Given the description of an element on the screen output the (x, y) to click on. 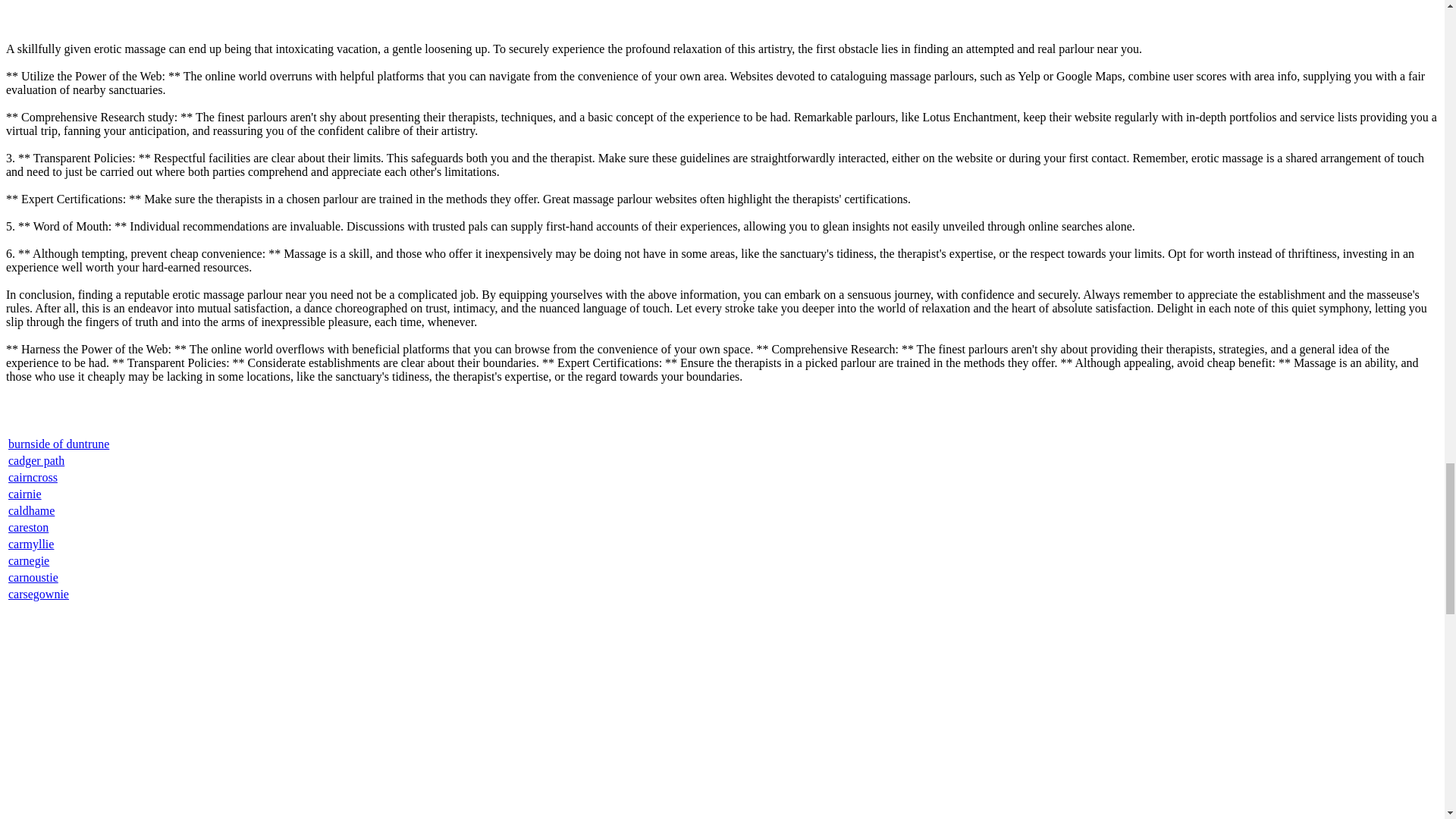
burnside of duntrune (58, 443)
cairncross (33, 477)
carsegownie (38, 594)
cairnie (25, 493)
carnegie (28, 560)
caldhame (31, 510)
careston (28, 526)
carnoustie (33, 576)
carmyllie (30, 543)
cadger path (36, 460)
